Given the description of an element on the screen output the (x, y) to click on. 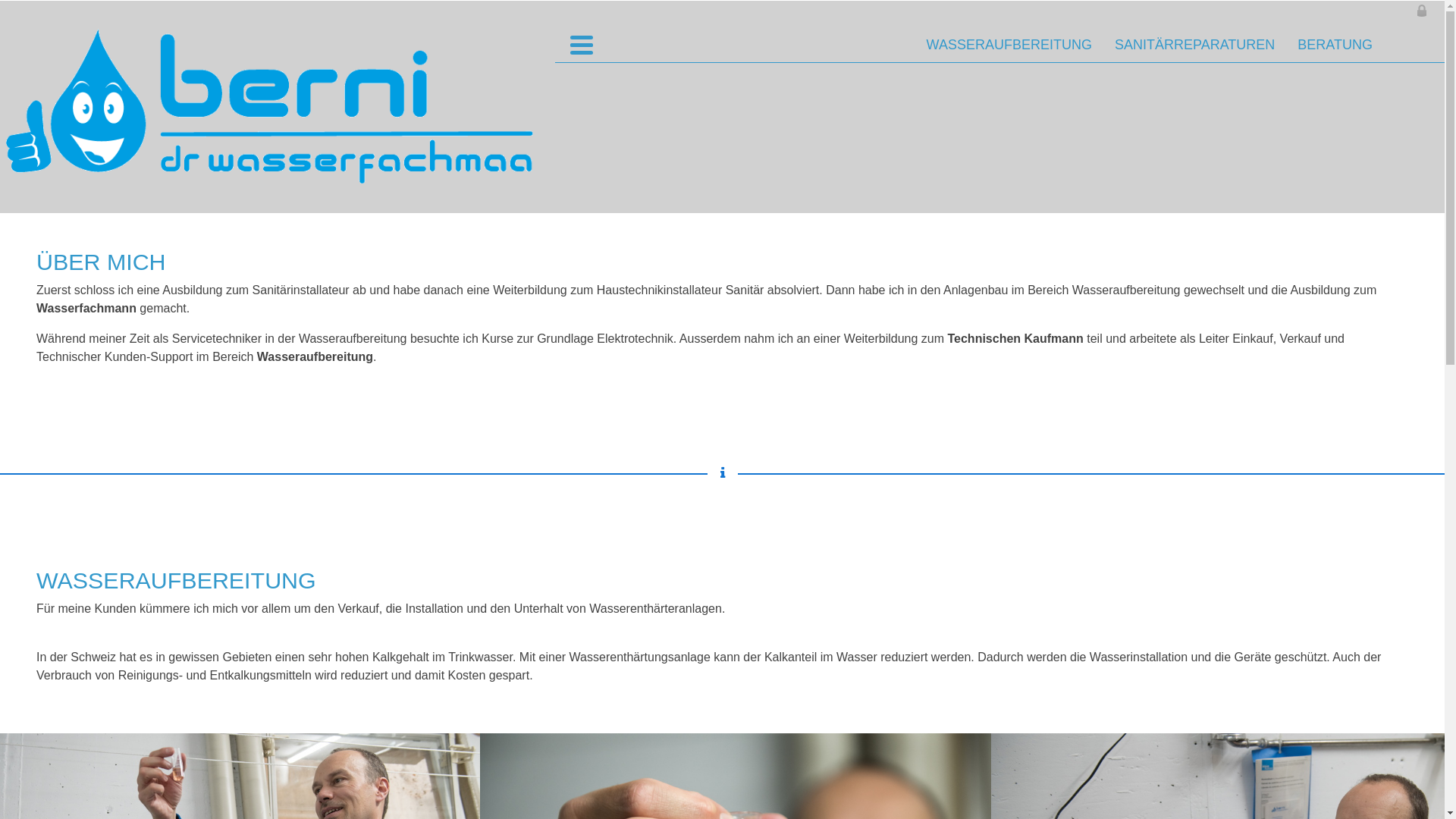
WASSERAUFBEREITUNG Element type: text (1009, 44)
BERATUNG Element type: text (1334, 44)
Berni Wieland Anmeldung Element type: hover (1421, 9)
